Given the description of an element on the screen output the (x, y) to click on. 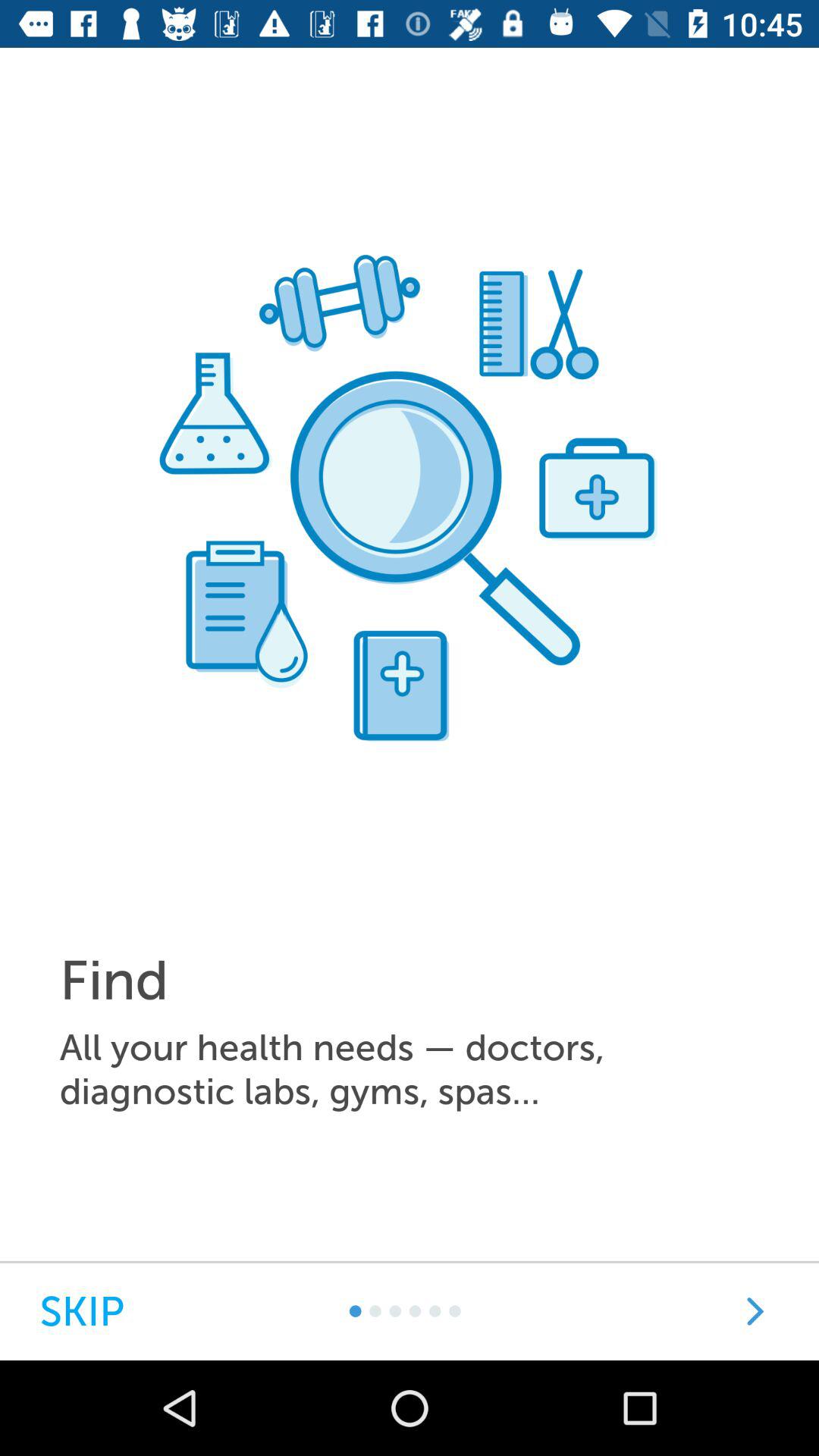
swipe to skip (81, 1311)
